Given the description of an element on the screen output the (x, y) to click on. 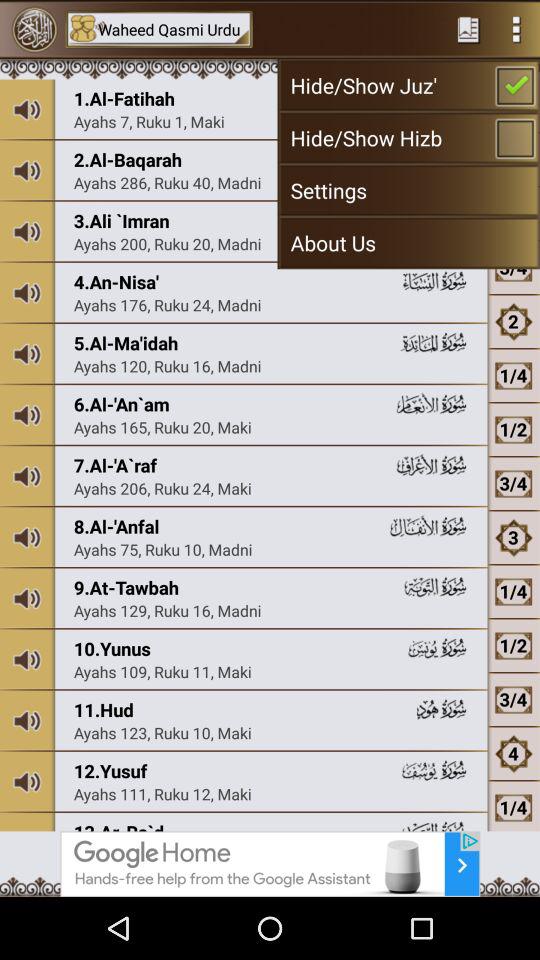
bookmark page (468, 29)
